Given the description of an element on the screen output the (x, y) to click on. 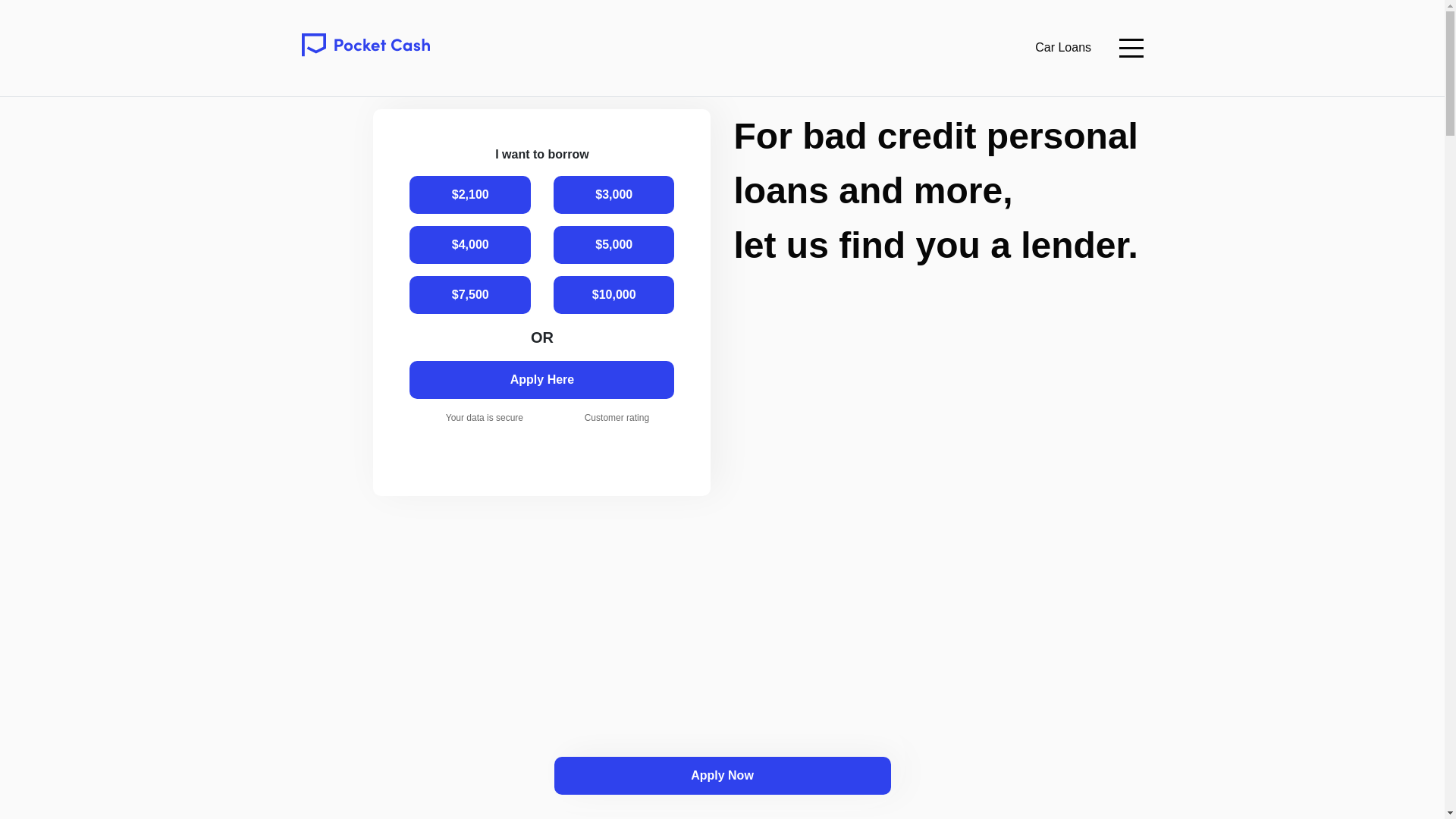
Your data is secure (484, 430)
Customer rating (617, 430)
Apply Now (721, 775)
Apply Here (541, 379)
Car Loans (1062, 47)
